Given the description of an element on the screen output the (x, y) to click on. 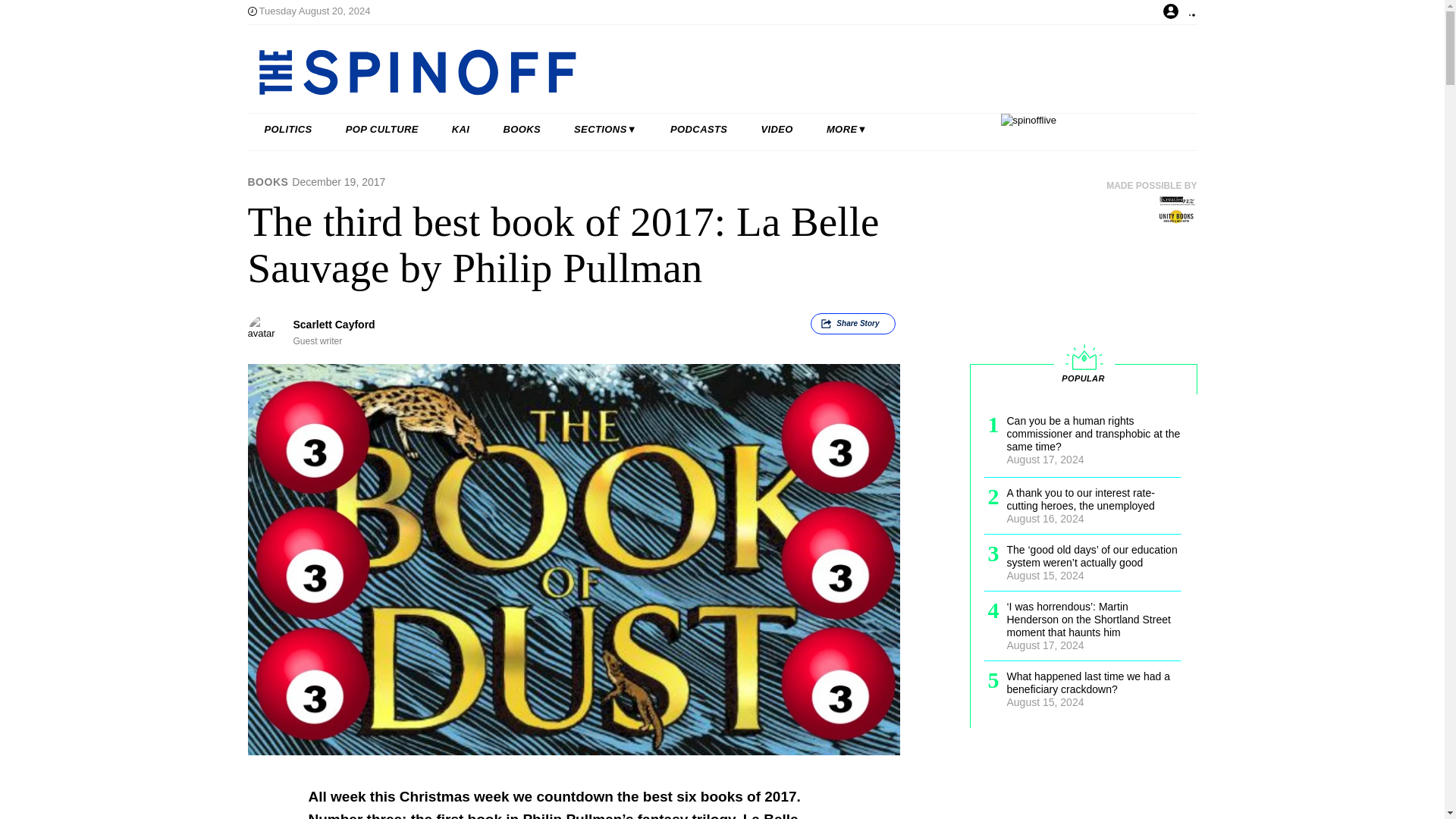
POP CULTURE (382, 129)
The Spinoff (673, 72)
SECTIONS (605, 129)
POLITICS (288, 129)
view all posts by Scarlett Cayford (333, 324)
PODCASTS (698, 129)
VIDEO (776, 129)
KAI (460, 129)
BOOKS (521, 129)
MORE (846, 129)
